Given the description of an element on the screen output the (x, y) to click on. 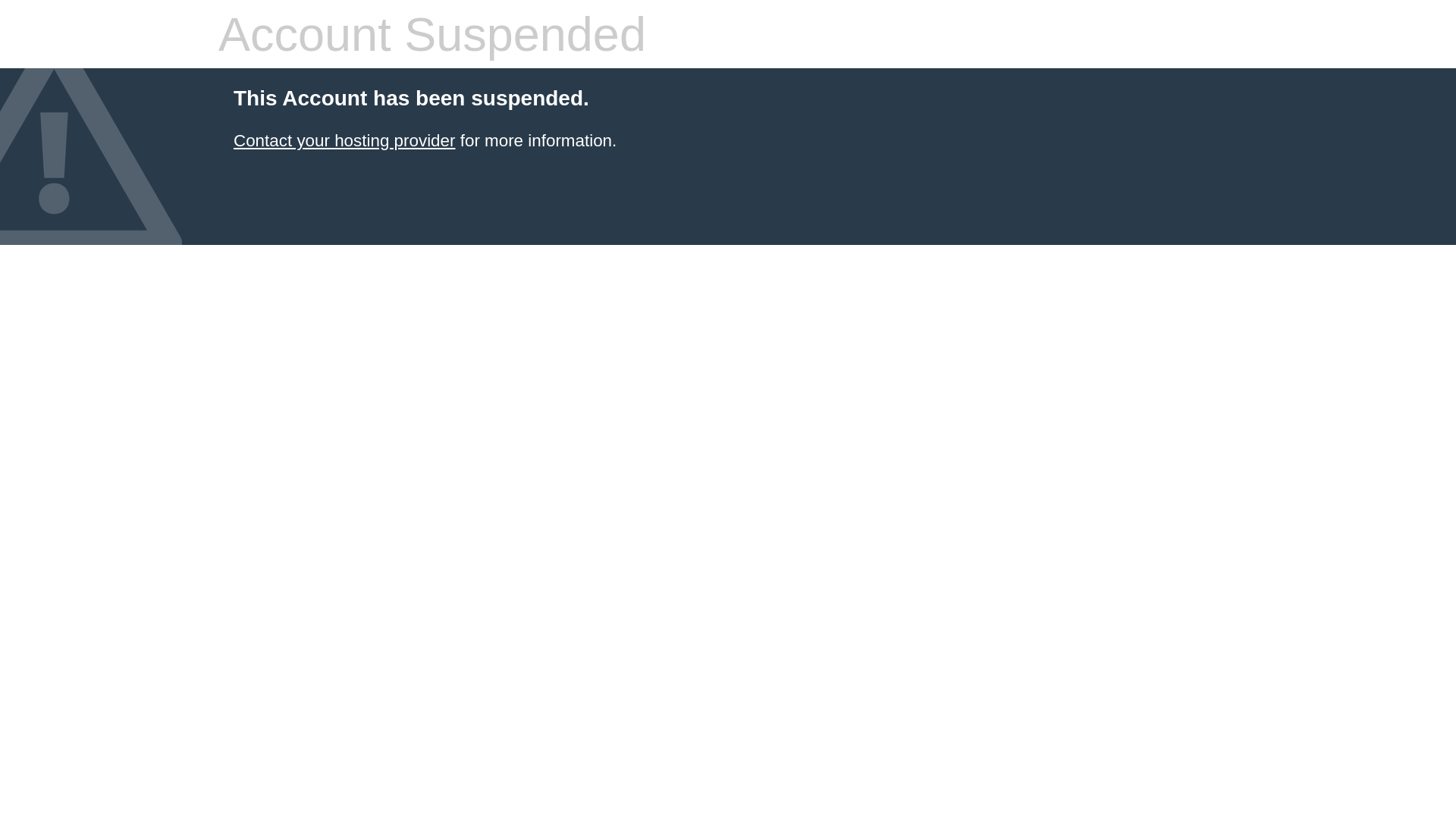
Contact your hosting provider Element type: text (344, 140)
